Given the description of an element on the screen output the (x, y) to click on. 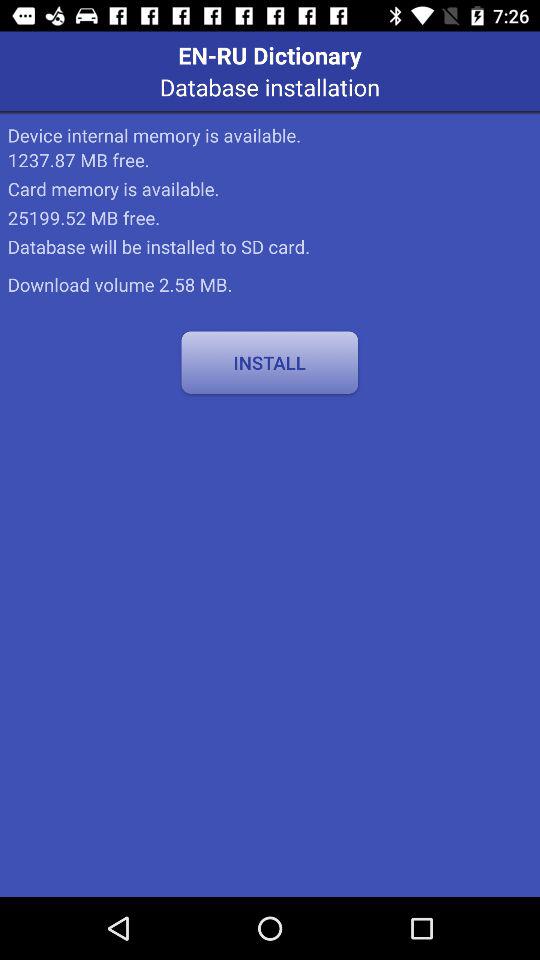
jump to install icon (269, 362)
